Given the description of an element on the screen output the (x, y) to click on. 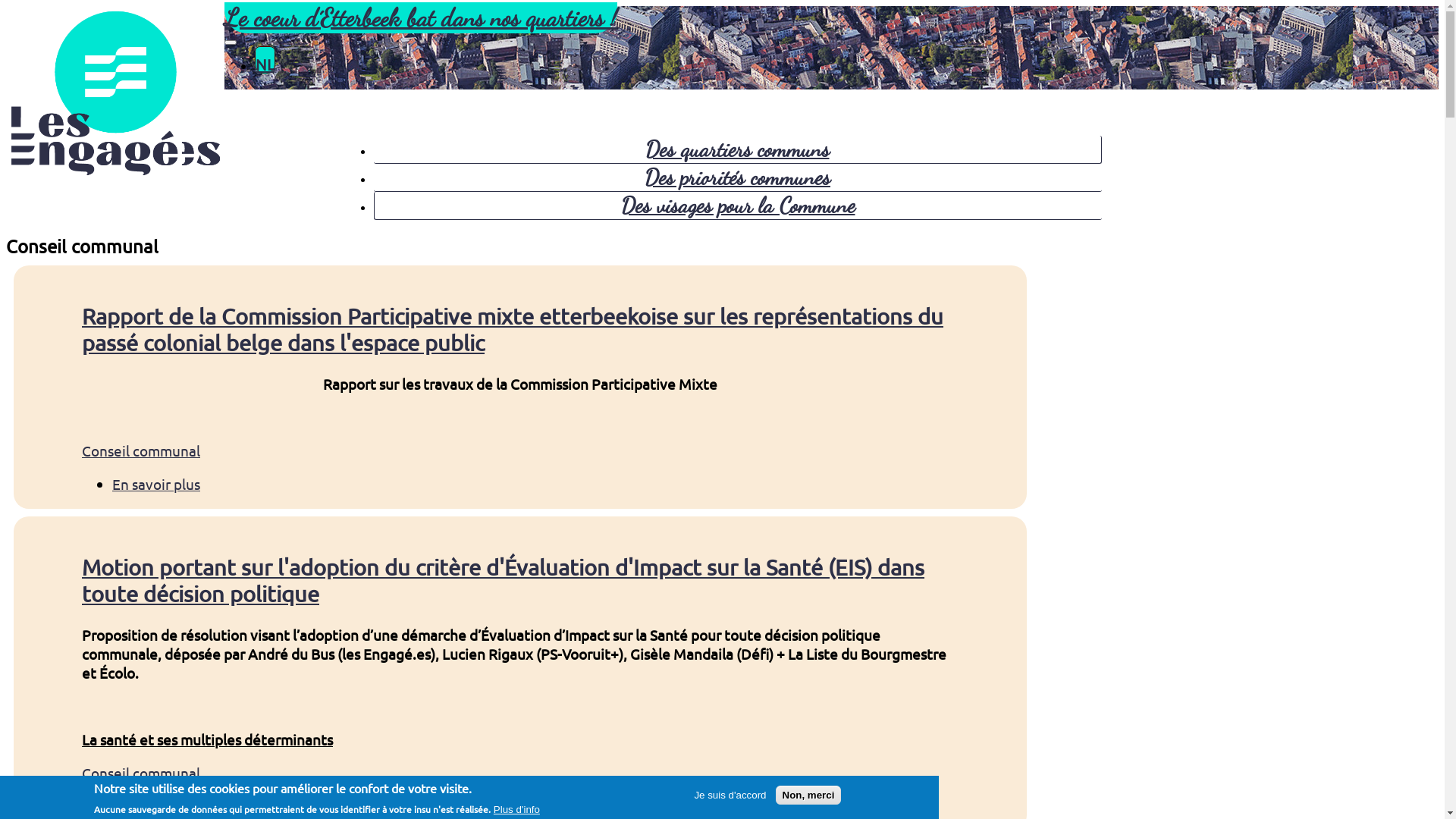
NL Element type: text (264, 60)
Toggle navigation Element type: text (230, 42)
Conseil communal Element type: text (140, 772)
Non, merci Element type: text (808, 794)
Je suis d'accord Element type: text (729, 794)
Conseil communal Element type: text (140, 450)
Plus d'info Element type: text (516, 809)
Des quartiers communs Element type: text (736, 149)
Accueil Element type: hover (115, 174)
Des visages pour la Commune Element type: text (737, 205)
Aller au contenu principal Element type: text (6, 6)
